Given the description of an element on the screen output the (x, y) to click on. 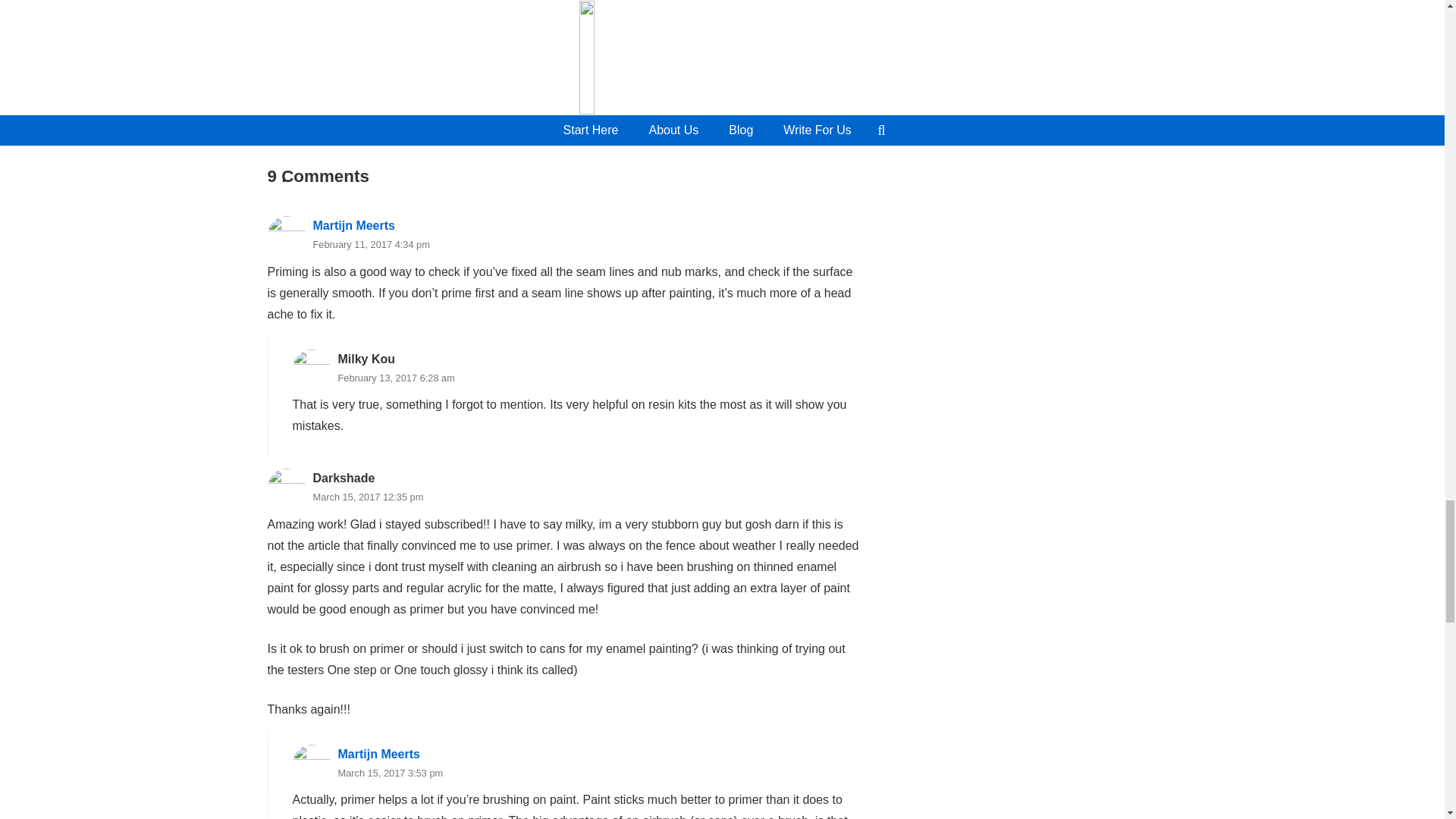
Martijn Meerts (378, 753)
February 13, 2017 6:28 am (395, 378)
Martijn Meerts (353, 225)
ADVICE (710, 11)
ADVICE (509, 43)
February 11, 2017 4:34 pm (371, 244)
ADVICE (308, 43)
March 15, 2017 3:53 pm (390, 772)
6 Cheap Gunpla to Level Up your Model-Making Skills (362, 73)
March 15, 2017 3:53 pm (390, 772)
March 15, 2017 12:35 pm (368, 496)
Our Top 5 Books for Gunpla Builders (564, 73)
February 11, 2017 4:34 pm (371, 244)
March 15, 2017 12:35 pm (368, 496)
